Given the description of an element on the screen output the (x, y) to click on. 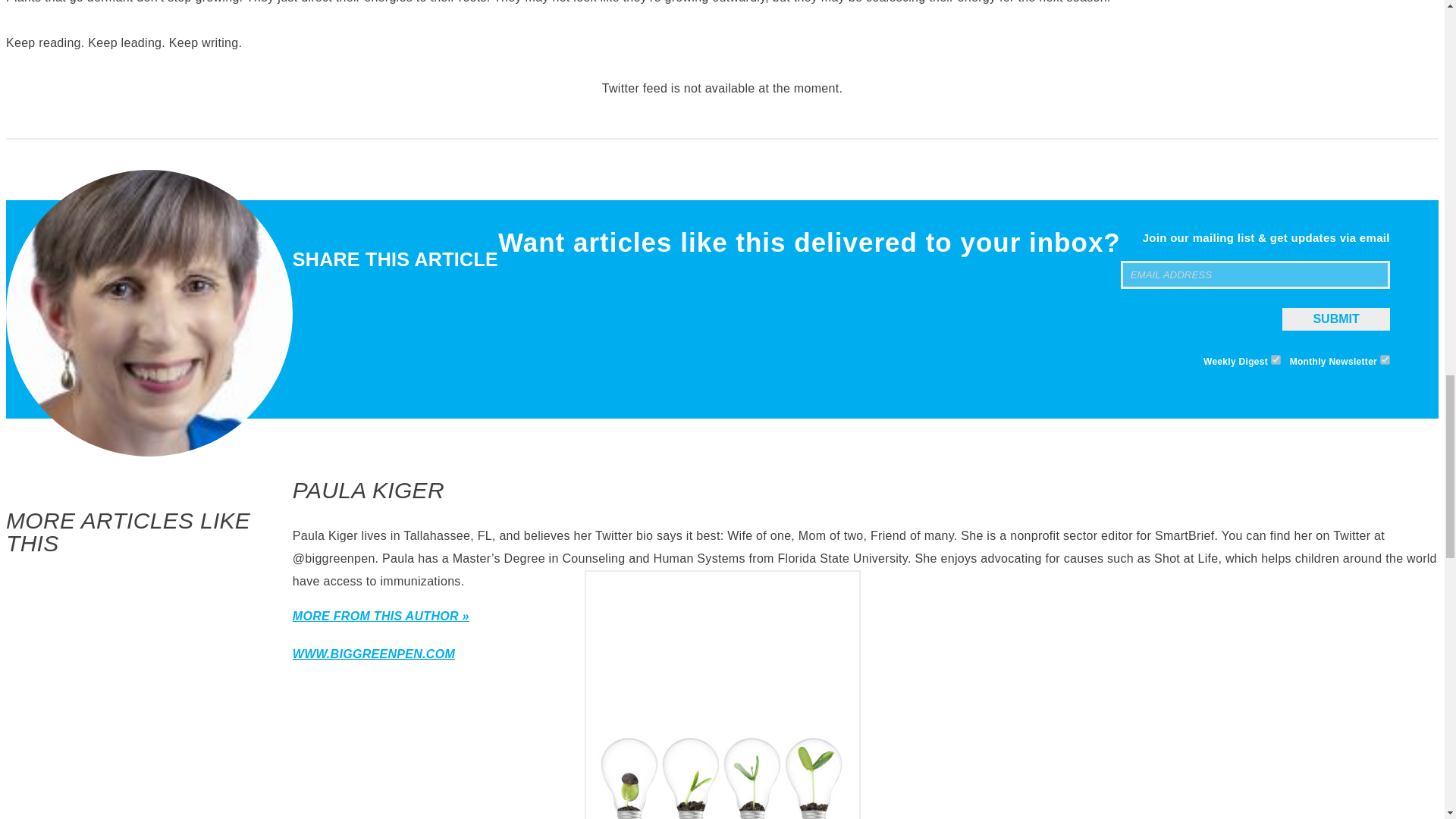
WWW.BIGGREENPEN.COM (373, 653)
Monthly Newsletter (1385, 359)
SUBMIT (1335, 318)
Weekly Digest (1276, 359)
SUBMIT (1335, 318)
